Given the description of an element on the screen output the (x, y) to click on. 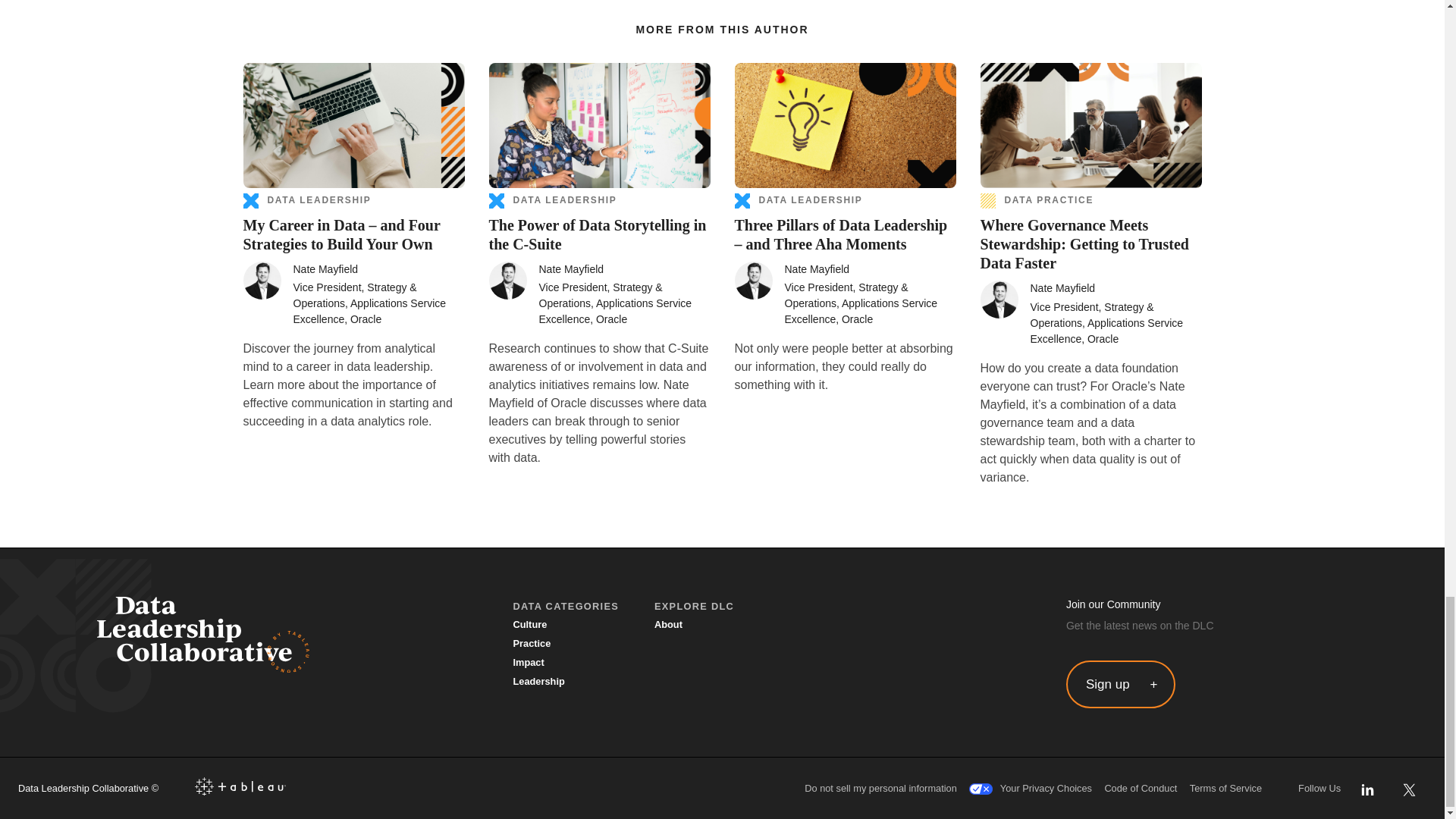
About (667, 625)
EXPLORE DLC (693, 606)
DATA CATEGORIES (565, 606)
Culture (529, 625)
Sign up (1119, 684)
Leadership (538, 681)
Impact (527, 662)
Practice (531, 644)
